Given the description of an element on the screen output the (x, y) to click on. 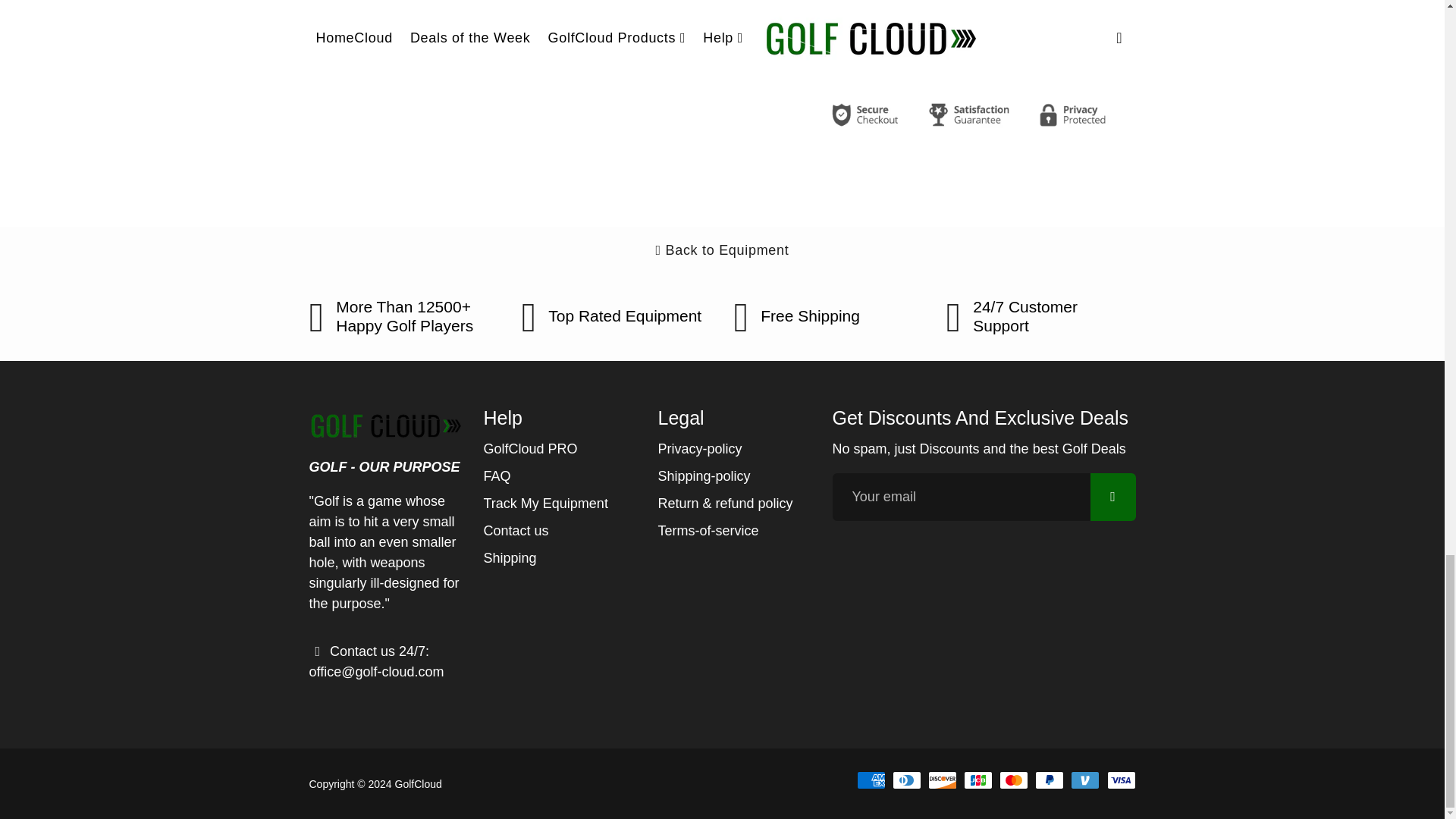
JCB (977, 780)
Mastercard (1012, 780)
Diners Club (906, 780)
Venmo (1084, 780)
American Express (871, 780)
PayPal (1049, 780)
Discover (942, 780)
Visa (1120, 780)
